Given the description of an element on the screen output the (x, y) to click on. 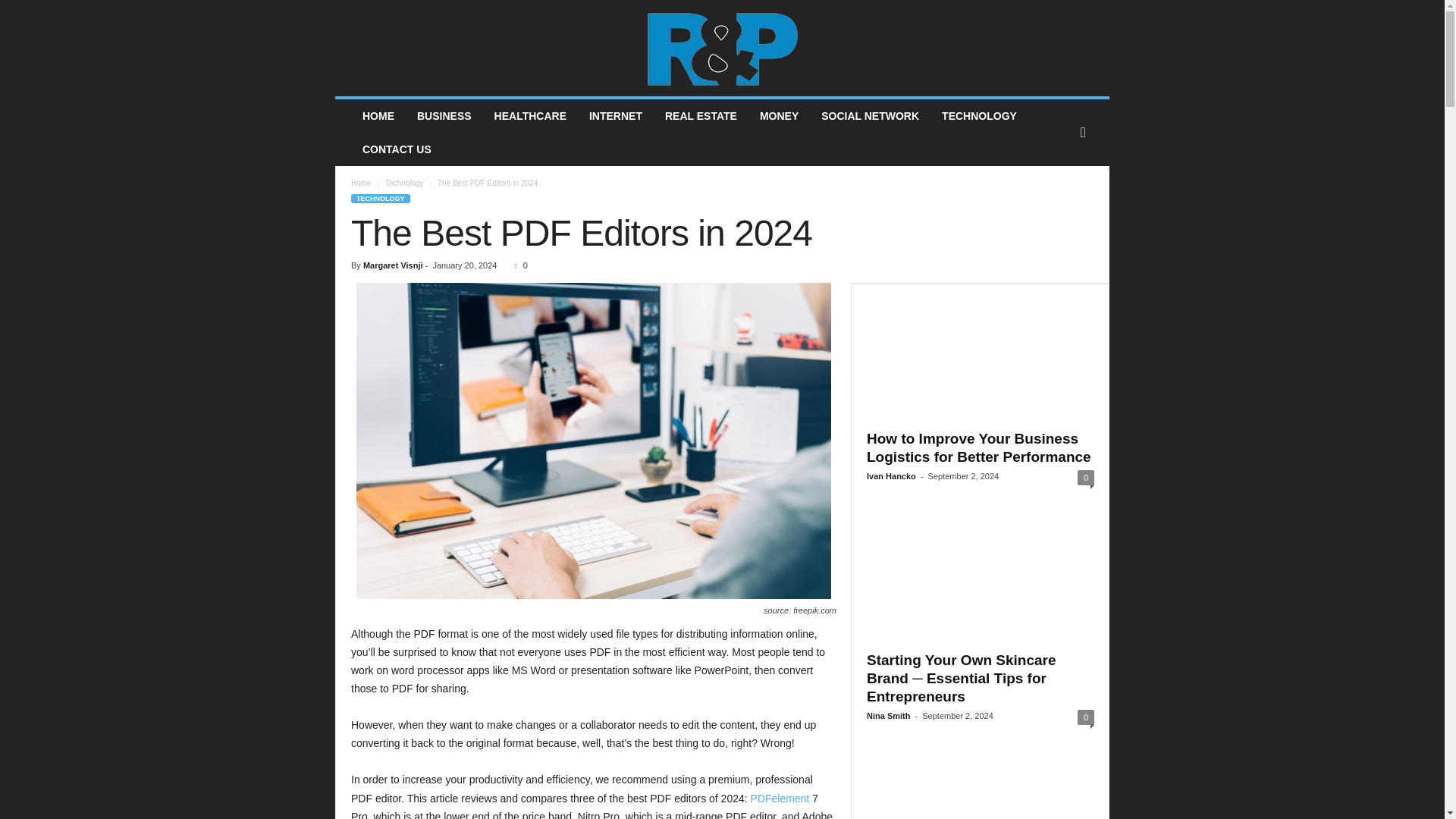
CONTACT US (396, 149)
Home (360, 183)
HEALTHCARE (530, 115)
Margaret Visnji (392, 265)
INTERNET (615, 115)
TECHNOLOGY (380, 198)
PDFelement (780, 798)
0 (517, 265)
REAL ESTATE (700, 115)
